Given the description of an element on the screen output the (x, y) to click on. 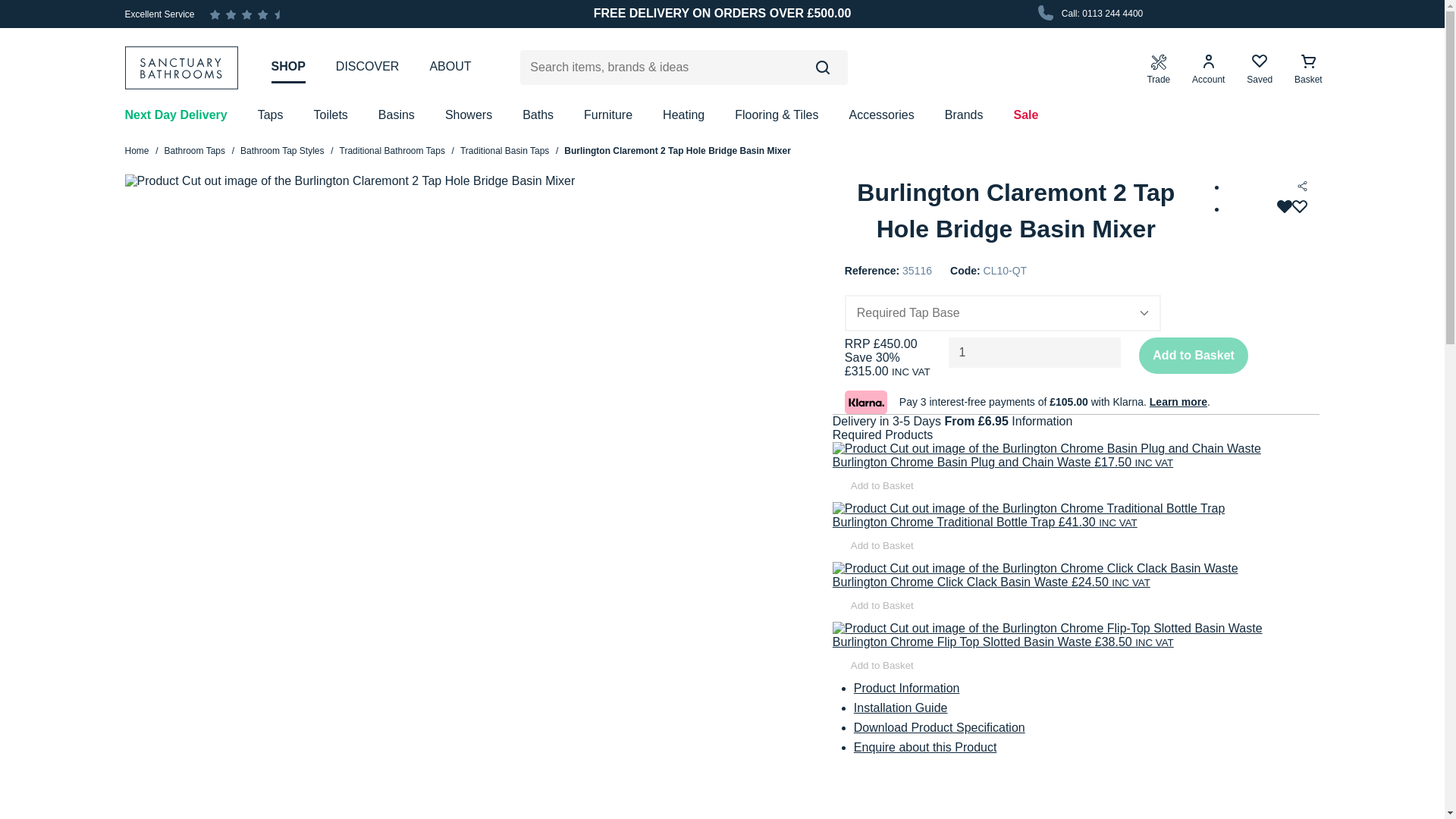
DISCOVER (367, 66)
Saved (1259, 69)
Product Information (906, 687)
Call: 0113 244 4400 (1087, 14)
Taps (270, 115)
Account (1208, 69)
Sanctuary Bathrooms (187, 67)
Trade (1158, 69)
Trade (1158, 69)
Remove from wishlist (1291, 208)
